Given the description of an element on the screen output the (x, y) to click on. 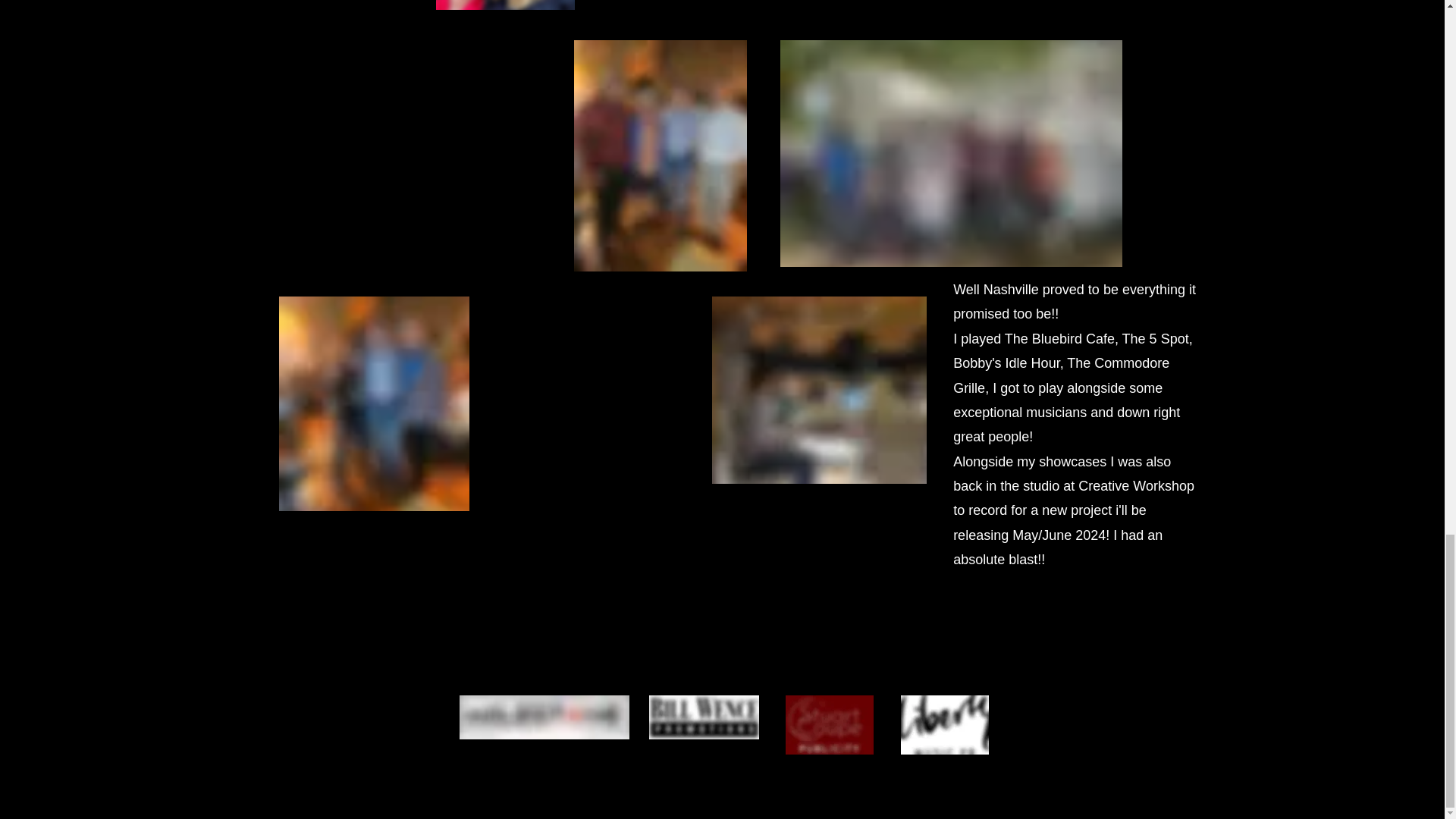
IMG-20230301-WA0015.jpg (818, 390)
IMG-20230301-WA0015.jpg (951, 153)
IMG-20230301-WA0015.jpg (504, 4)
